Given the description of an element on the screen output the (x, y) to click on. 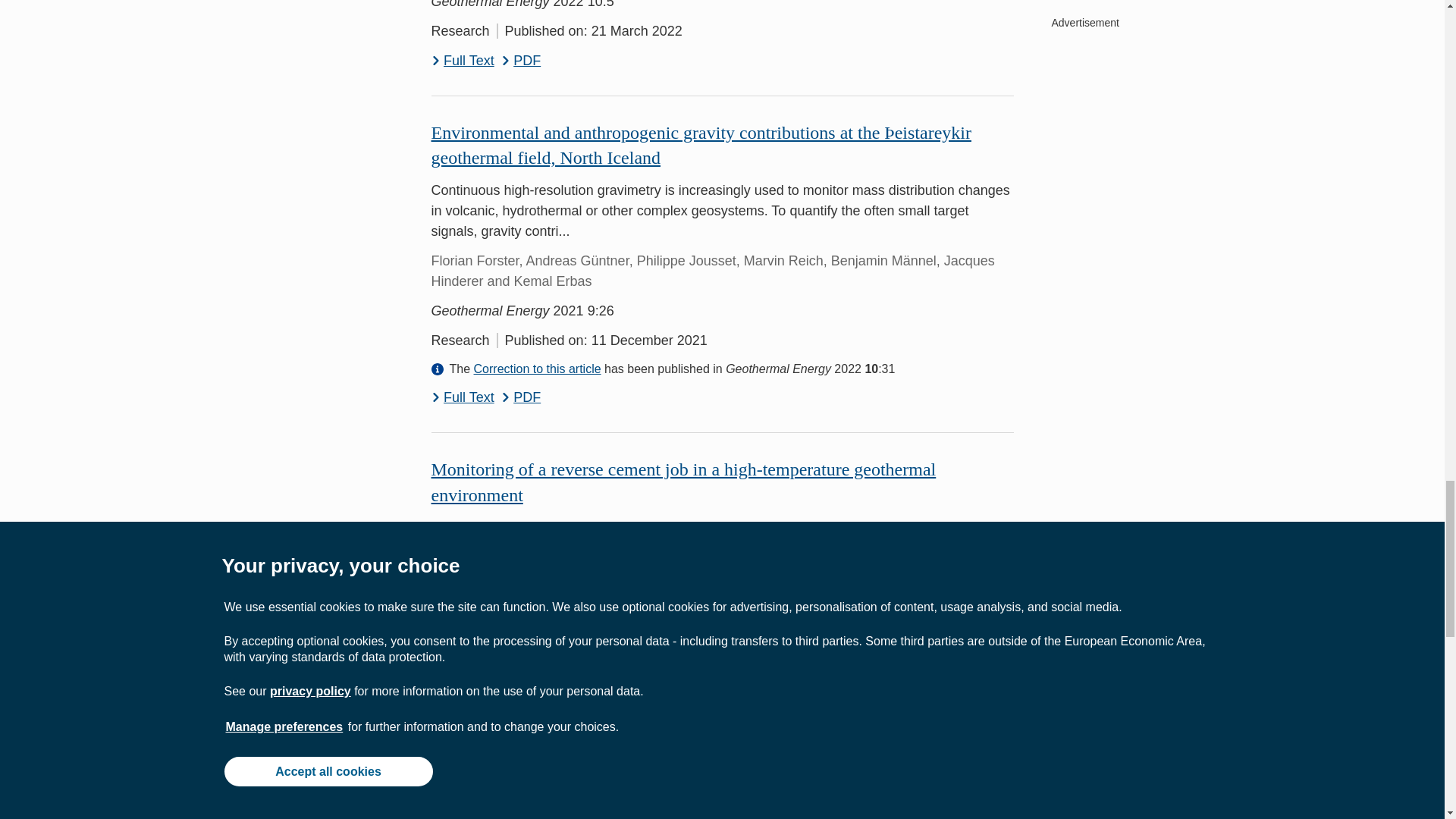
Full Text (461, 397)
PDF (520, 60)
PDF (520, 397)
Correction to this article (537, 368)
PDF (520, 706)
Full Text (461, 706)
Full Text (461, 60)
